Given the description of an element on the screen output the (x, y) to click on. 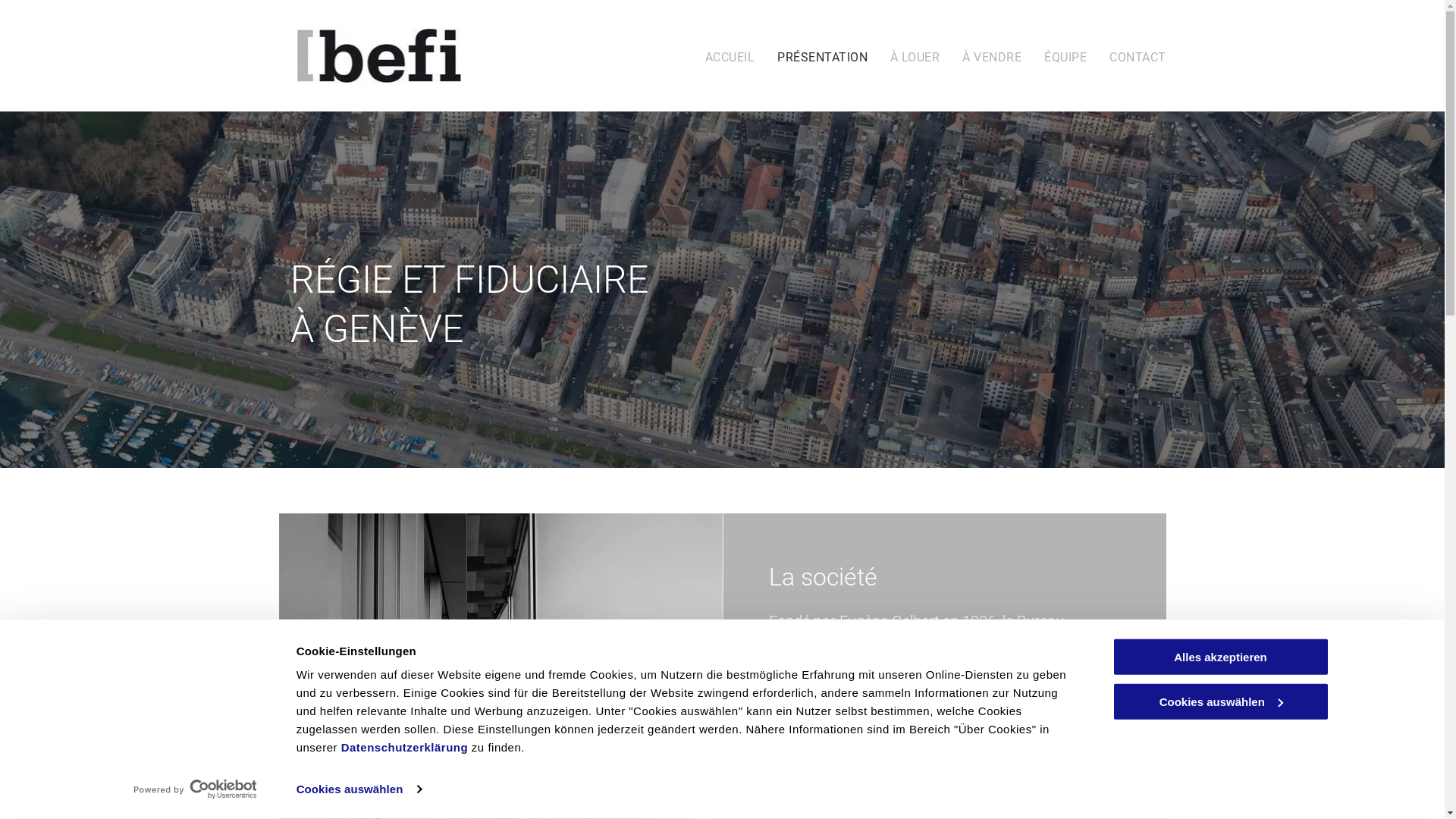
Alles akzeptieren Element type: text (1219, 656)
CONTACT Element type: text (1137, 57)
ACCUEIL Element type: text (729, 57)
